Given the description of an element on the screen output the (x, y) to click on. 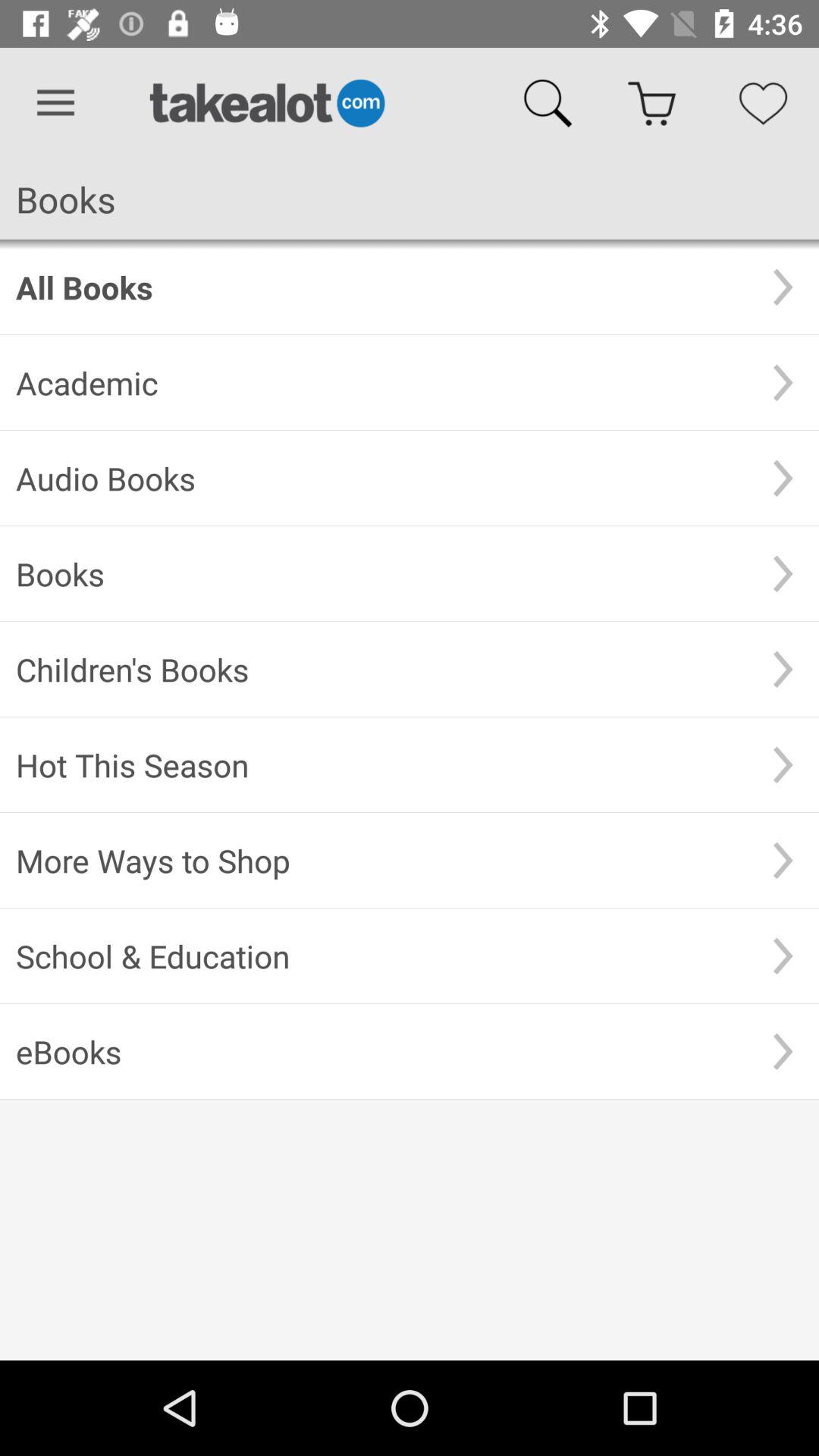
click the all books item (381, 286)
